Given the description of an element on the screen output the (x, y) to click on. 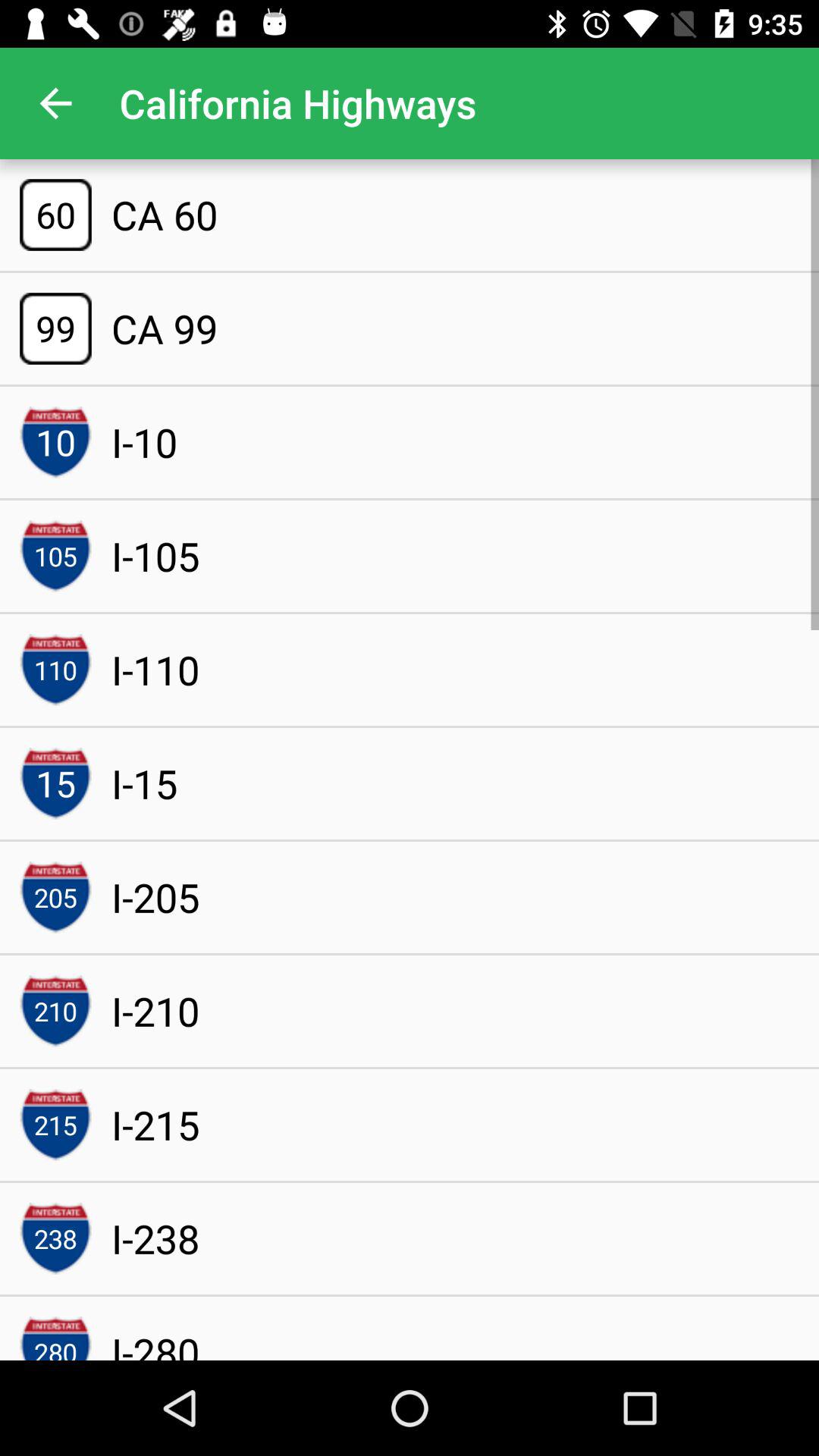
open the icon above the i-215 (155, 1010)
